Given the description of an element on the screen output the (x, y) to click on. 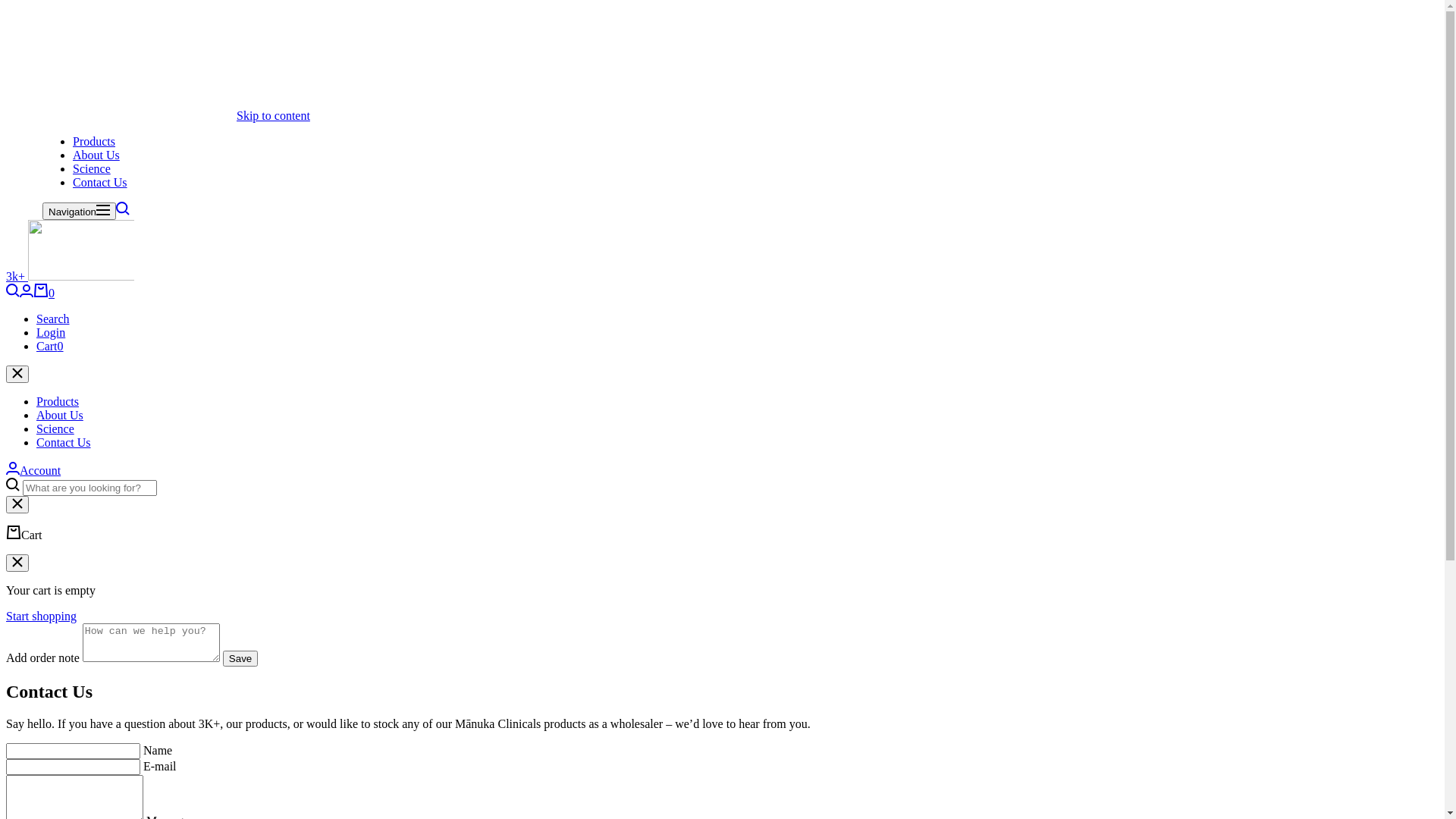
Products Element type: text (57, 401)
Skip to content Element type: text (273, 115)
Science Element type: text (91, 168)
3k+ Element type: text (70, 275)
Start shopping Element type: text (41, 615)
Products Element type: text (93, 140)
Cart0 Element type: text (49, 345)
Close Element type: hover (17, 504)
Account Element type: text (33, 470)
Close Element type: hover (17, 562)
0 Element type: text (43, 292)
Contact Us Element type: text (99, 181)
About Us Element type: text (95, 154)
Contact Us Element type: text (63, 442)
Login Element type: text (50, 332)
About Us Element type: text (59, 414)
Science Element type: text (55, 428)
Search Element type: text (52, 318)
Close Element type: hover (17, 373)
Navigation Element type: text (79, 210)
Save Element type: text (239, 658)
